Given the description of an element on the screen output the (x, y) to click on. 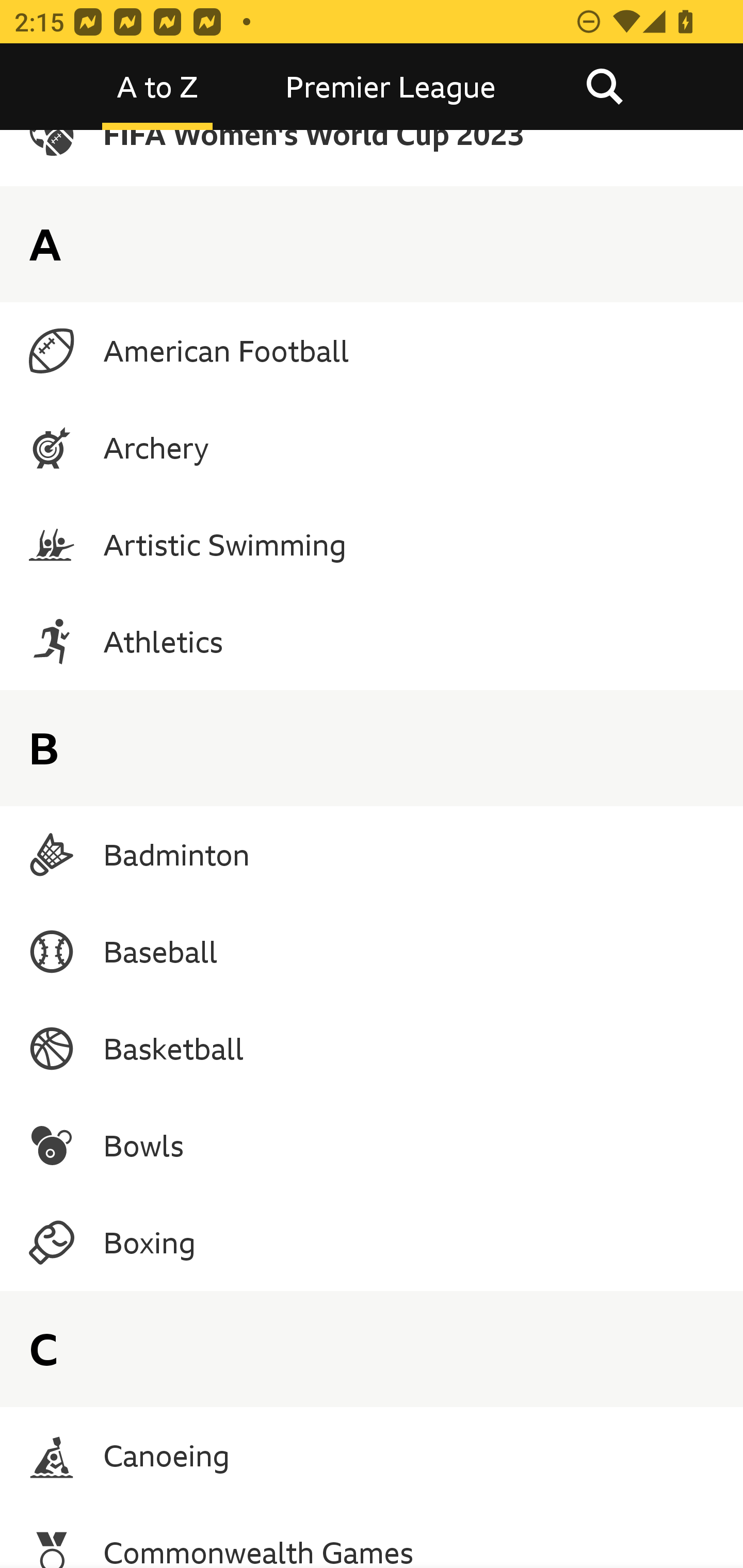
Premier League (390, 86)
Search (604, 86)
American Football (371, 350)
Archery (371, 447)
Artistic Swimming (371, 543)
Athletics (371, 640)
Badminton (371, 854)
Baseball (371, 951)
Basketball (371, 1048)
Bowls (371, 1145)
Boxing (371, 1242)
Canoeing (371, 1454)
Commonwealth Games (371, 1535)
